Given the description of an element on the screen output the (x, y) to click on. 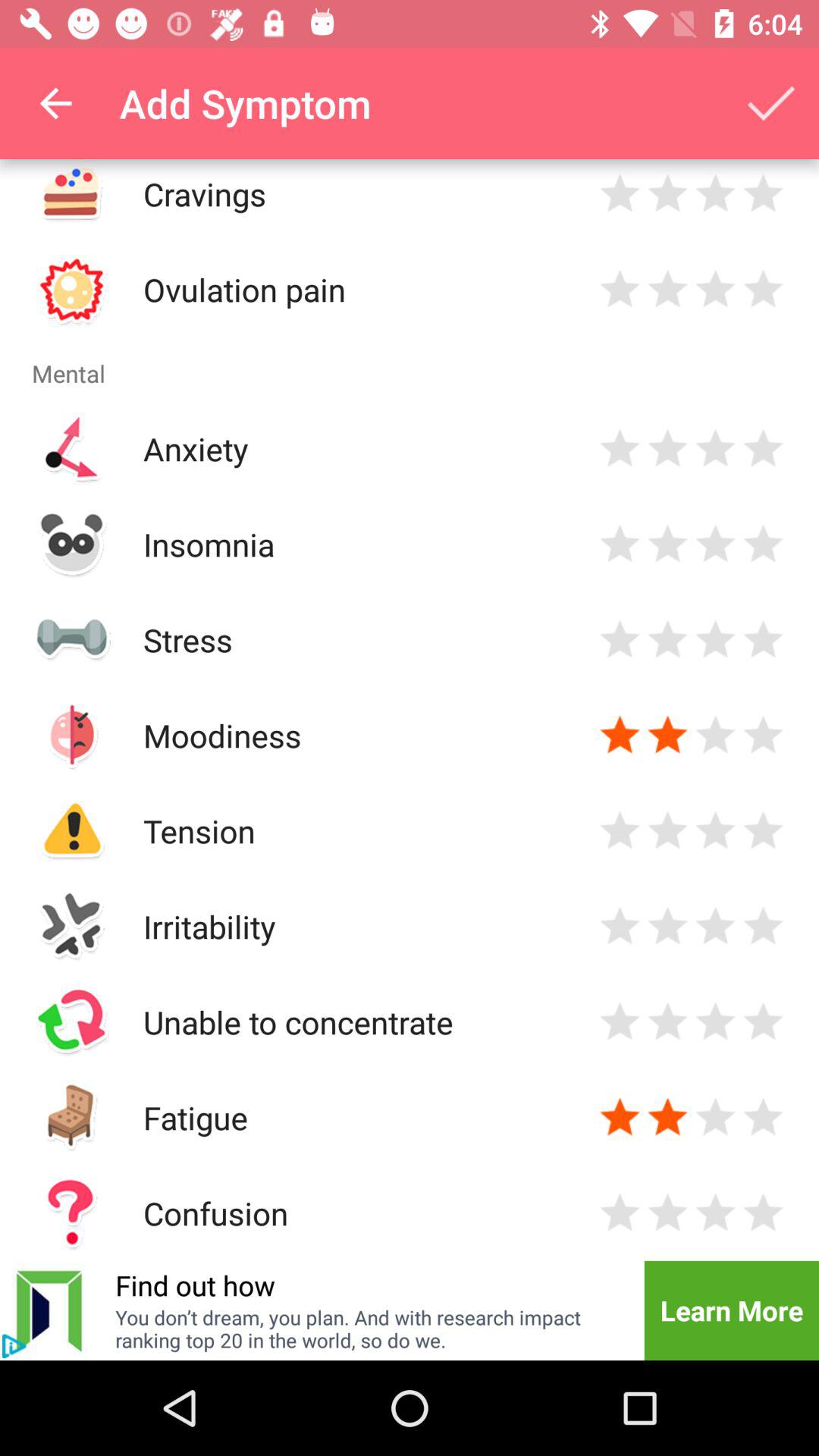
rate 4 stars (763, 1021)
